Given the description of an element on the screen output the (x, y) to click on. 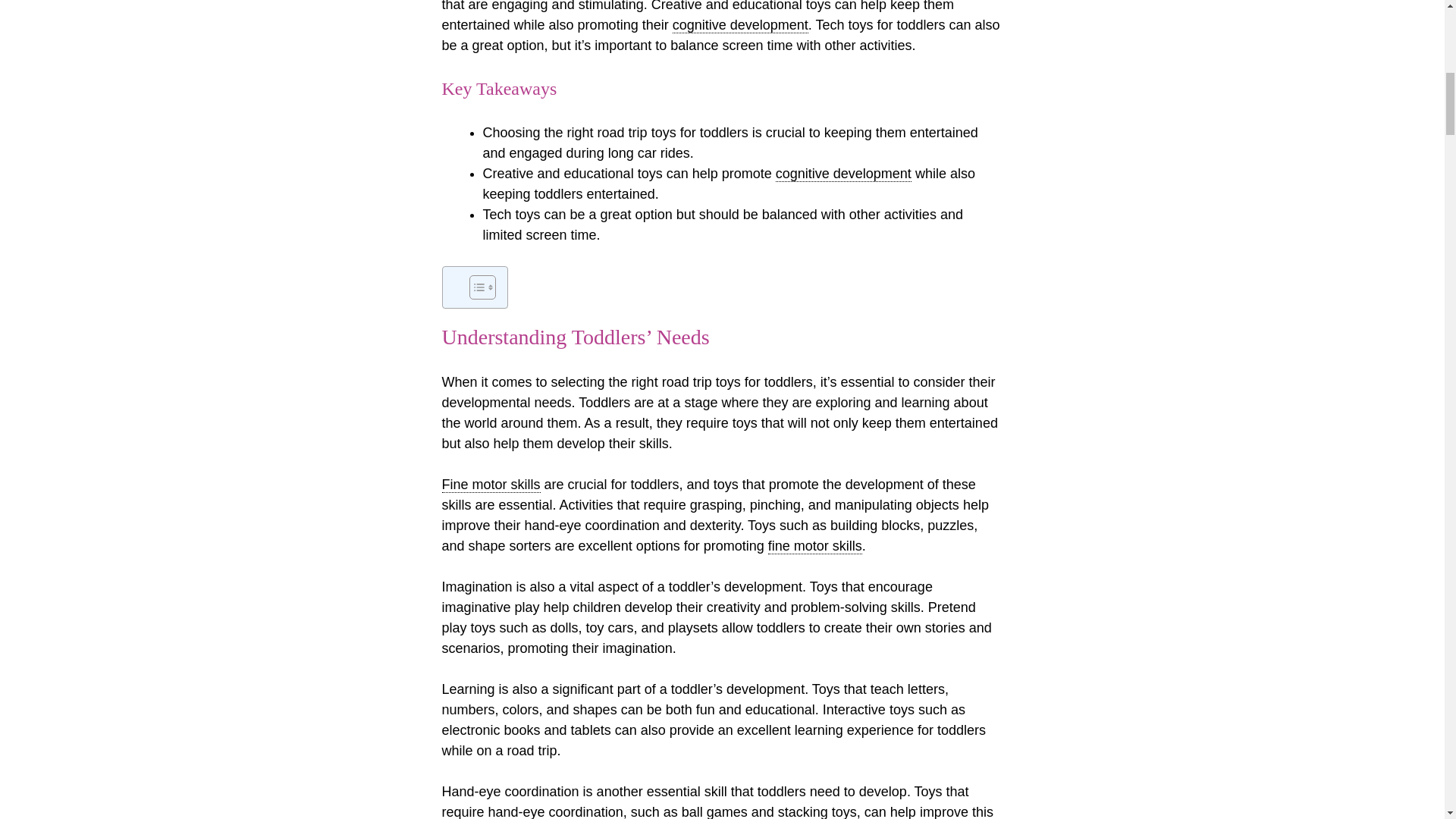
Fine motor skills (490, 484)
fine motor skills (814, 546)
cognitive development (843, 173)
cognitive development (740, 25)
